Given the description of an element on the screen output the (x, y) to click on. 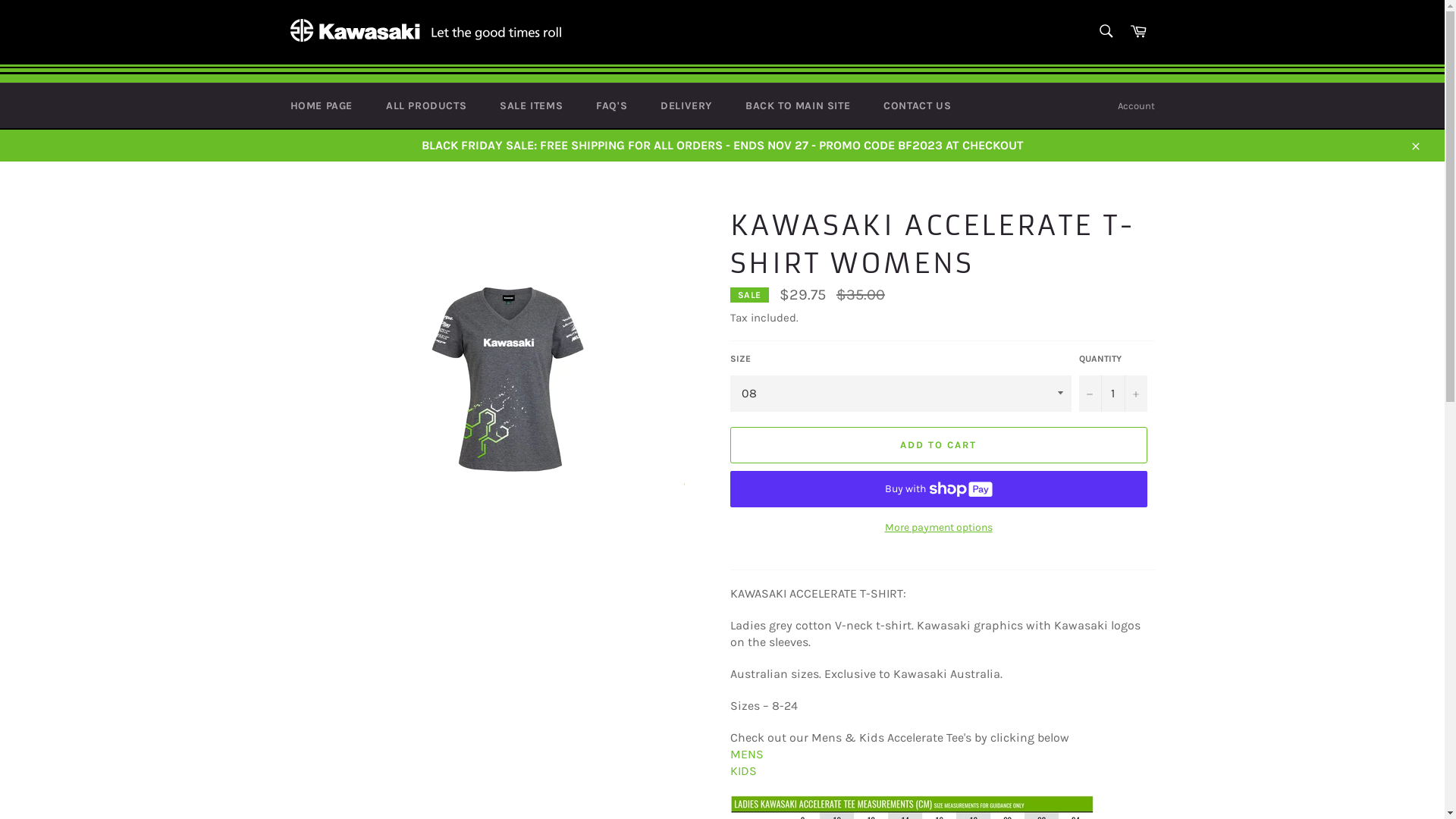
ALL PRODUCTS Element type: text (425, 105)
MENS Element type: text (745, 753)
ADD TO CART Element type: text (937, 444)
Search Element type: text (1105, 31)
BACK TO MAIN SITE Element type: text (797, 105)
Cart Element type: text (1138, 32)
Account Element type: text (1136, 106)
CONTACT US Element type: text (917, 105)
+ Element type: text (1134, 393)
HOME PAGE Element type: text (320, 105)
KIDS Element type: text (742, 770)
FAQ'S Element type: text (611, 105)
More payment options Element type: text (937, 527)
SALE ITEMS Element type: text (530, 105)
DELIVERY Element type: text (686, 105)
Close Element type: text (1414, 145)
